Given the description of an element on the screen output the (x, y) to click on. 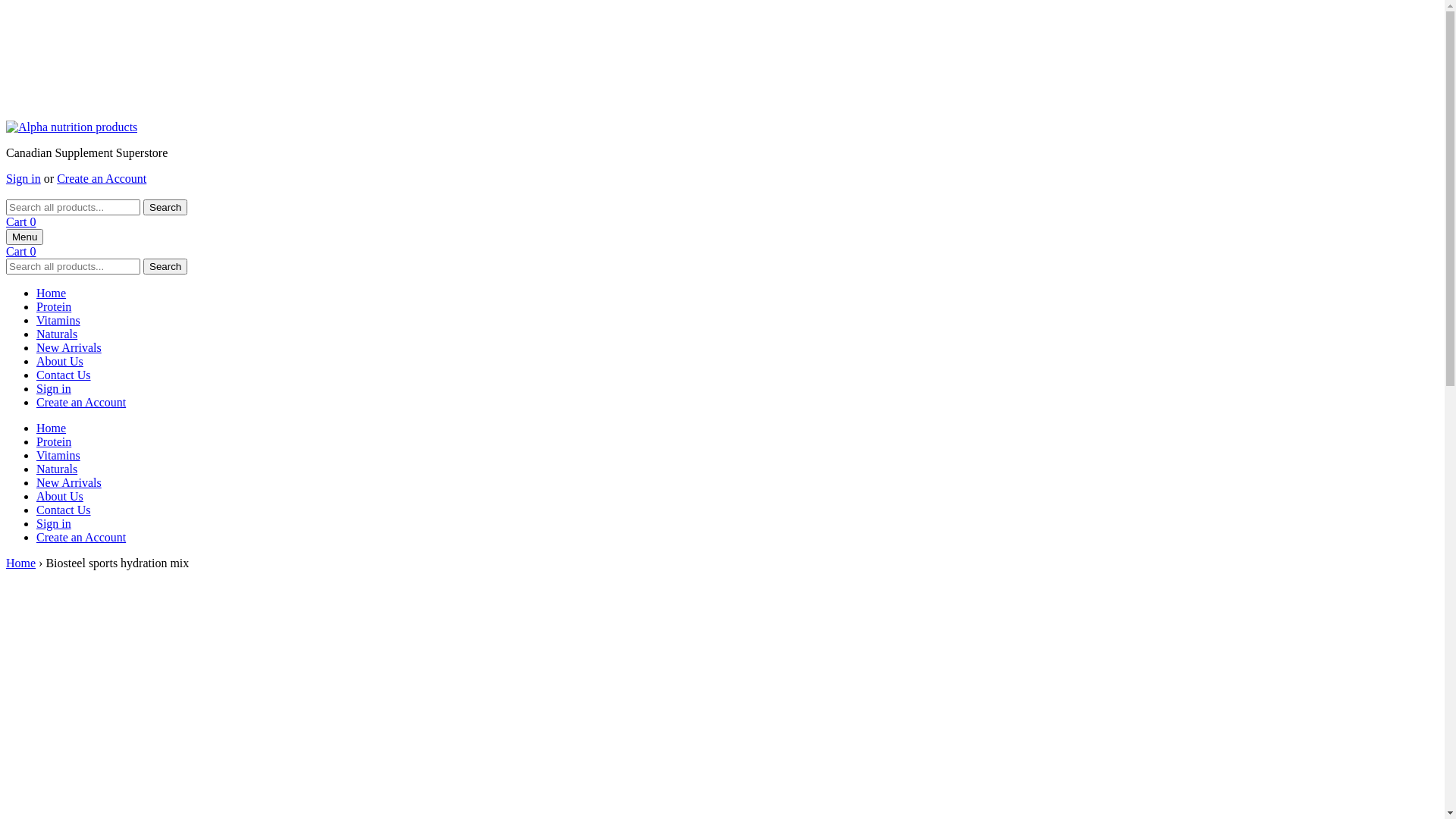
Protein Element type: text (53, 441)
Vitamins Element type: text (58, 319)
Naturals Element type: text (56, 468)
Menu Element type: text (24, 236)
New Arrivals Element type: text (68, 347)
Cart 0 Element type: text (21, 221)
New Arrivals Element type: text (68, 482)
Create an Account Element type: text (80, 401)
Vitamins Element type: text (58, 454)
Sign in Element type: text (53, 523)
Sign in Element type: text (53, 388)
Contact Us Element type: text (63, 509)
Create an Account Element type: text (80, 536)
Naturals Element type: text (56, 333)
Home Element type: text (20, 562)
Contact Us Element type: text (63, 374)
About Us Element type: text (59, 495)
Create an Account Element type: text (101, 178)
Cart 0 Element type: text (21, 250)
Search Element type: text (165, 207)
Home Element type: text (50, 427)
Protein Element type: text (53, 306)
Home Element type: text (50, 292)
About Us Element type: text (59, 360)
Sign in Element type: text (23, 178)
Search Element type: text (165, 266)
